Given the description of an element on the screen output the (x, y) to click on. 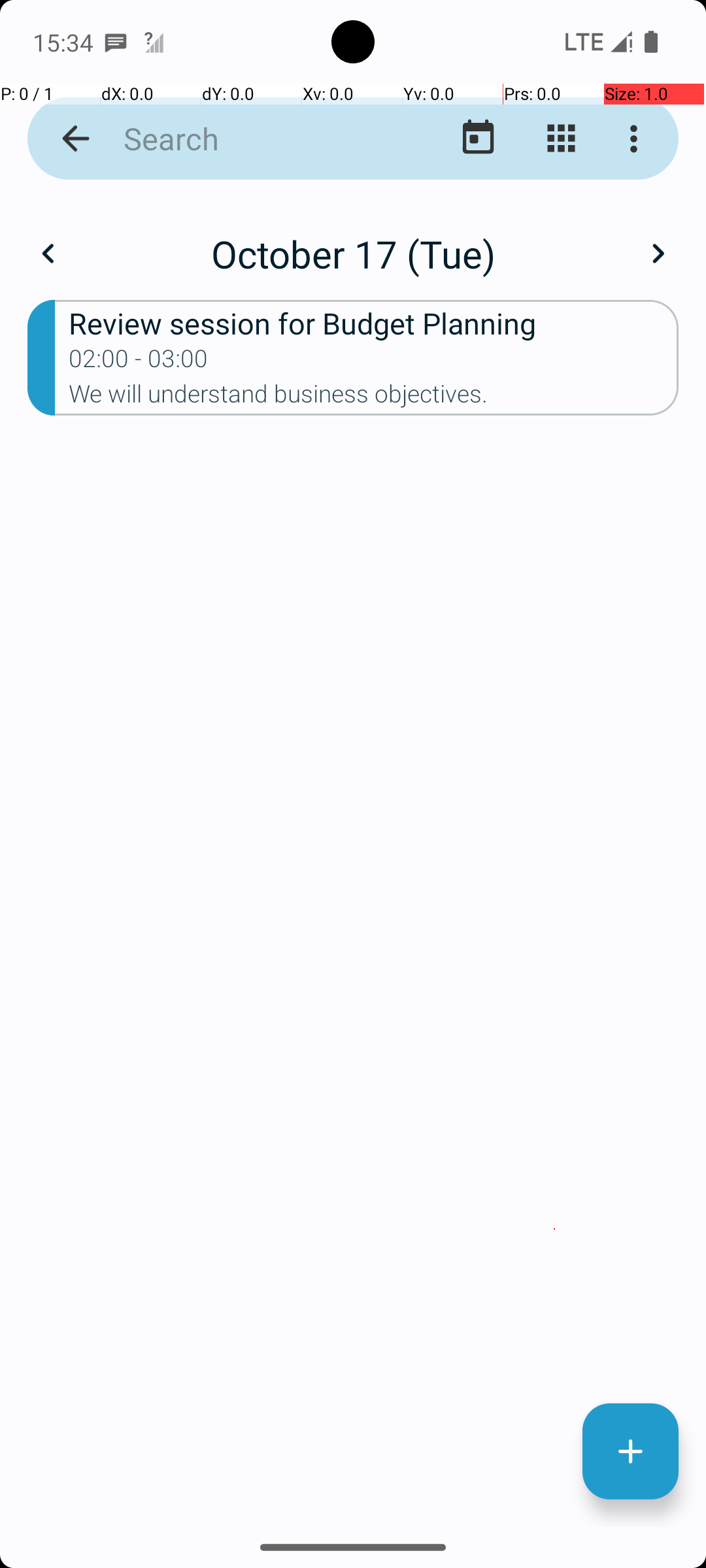
October 17 (Tue) Element type: android.widget.TextView (352, 253)
Review session for Budget Planning Element type: android.widget.TextView (373, 321)
02:00 - 03:00 Element type: android.widget.TextView (137, 362)
We will understand business objectives. Element type: android.widget.TextView (373, 397)
